Given the description of an element on the screen output the (x, y) to click on. 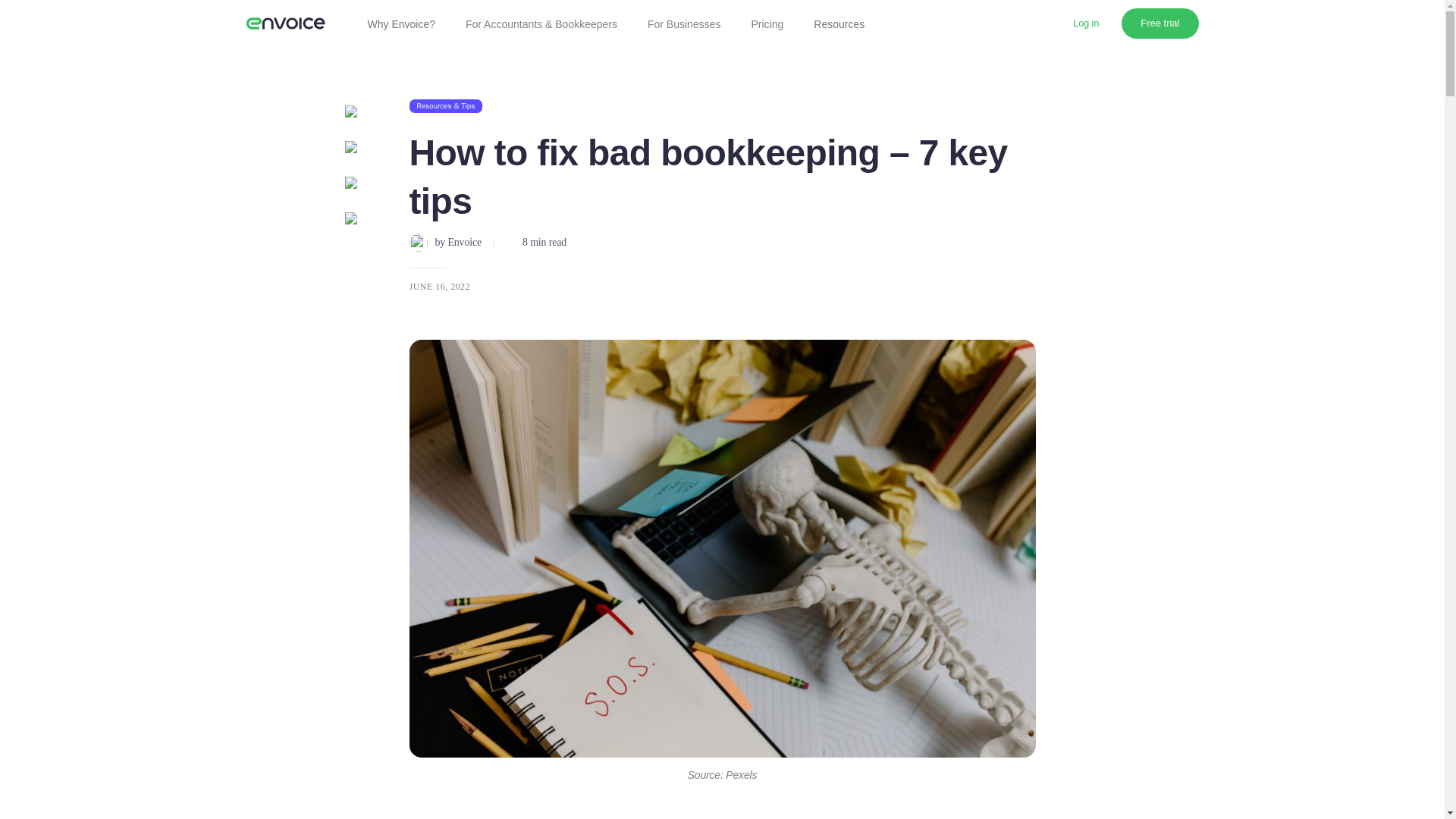
For Businesses (683, 23)
Pricing (766, 23)
For Businesses (683, 23)
Why Envoice? (400, 23)
Resources (838, 23)
Log in (1086, 23)
Resources (838, 23)
Why Envoice? (400, 23)
Pricing (766, 23)
Free trial (1159, 23)
